Given the description of an element on the screen output the (x, y) to click on. 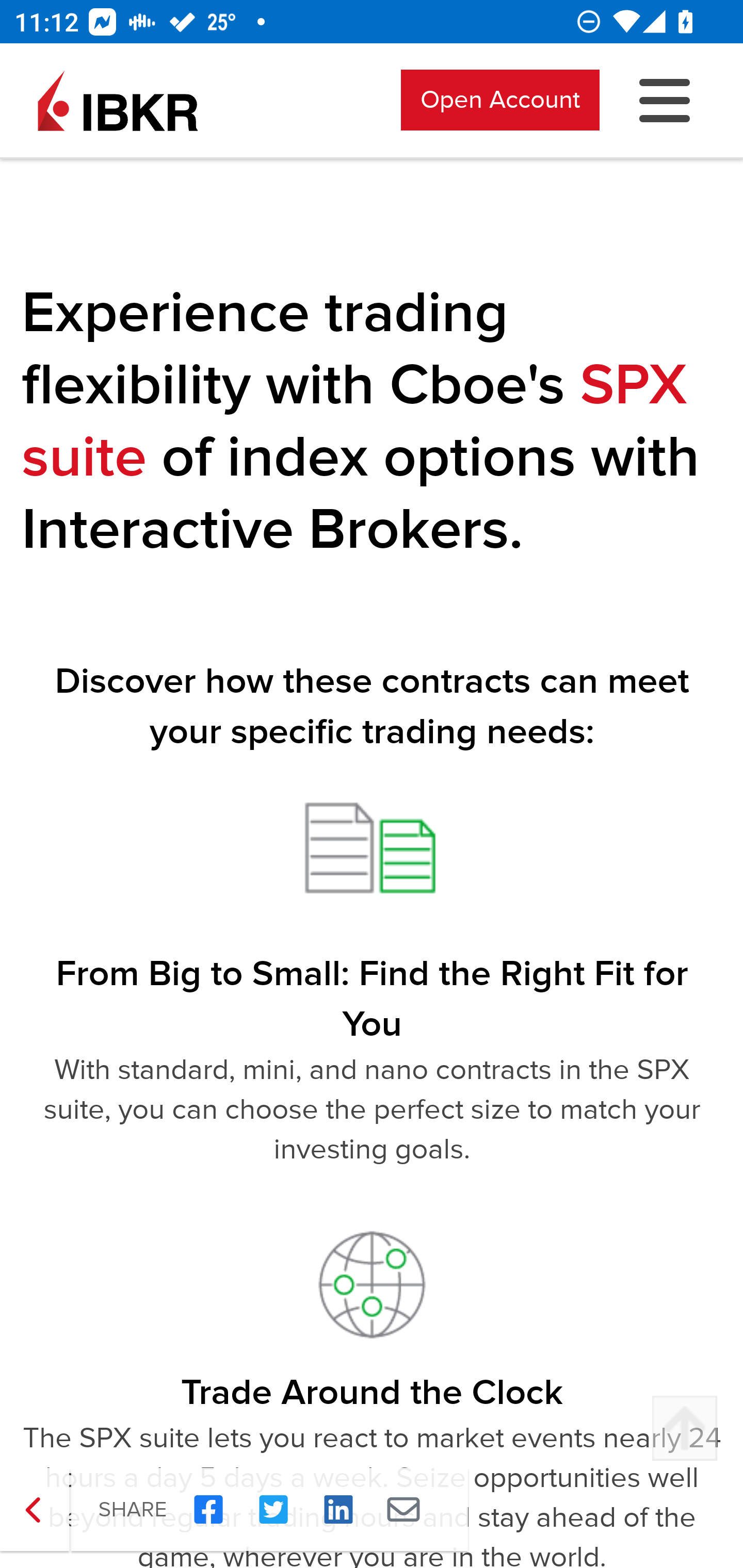
Interactive Brokers Home (117, 100)
Open Account (500, 100)
Toggle Navigation (665, 100)
To Top (684, 1428)
Share on Facebook  (208, 1509)
Share on Twitter  (272, 1509)
Share on Linkedin  (338, 1509)
Share by Email  (403, 1509)
